Given the description of an element on the screen output the (x, y) to click on. 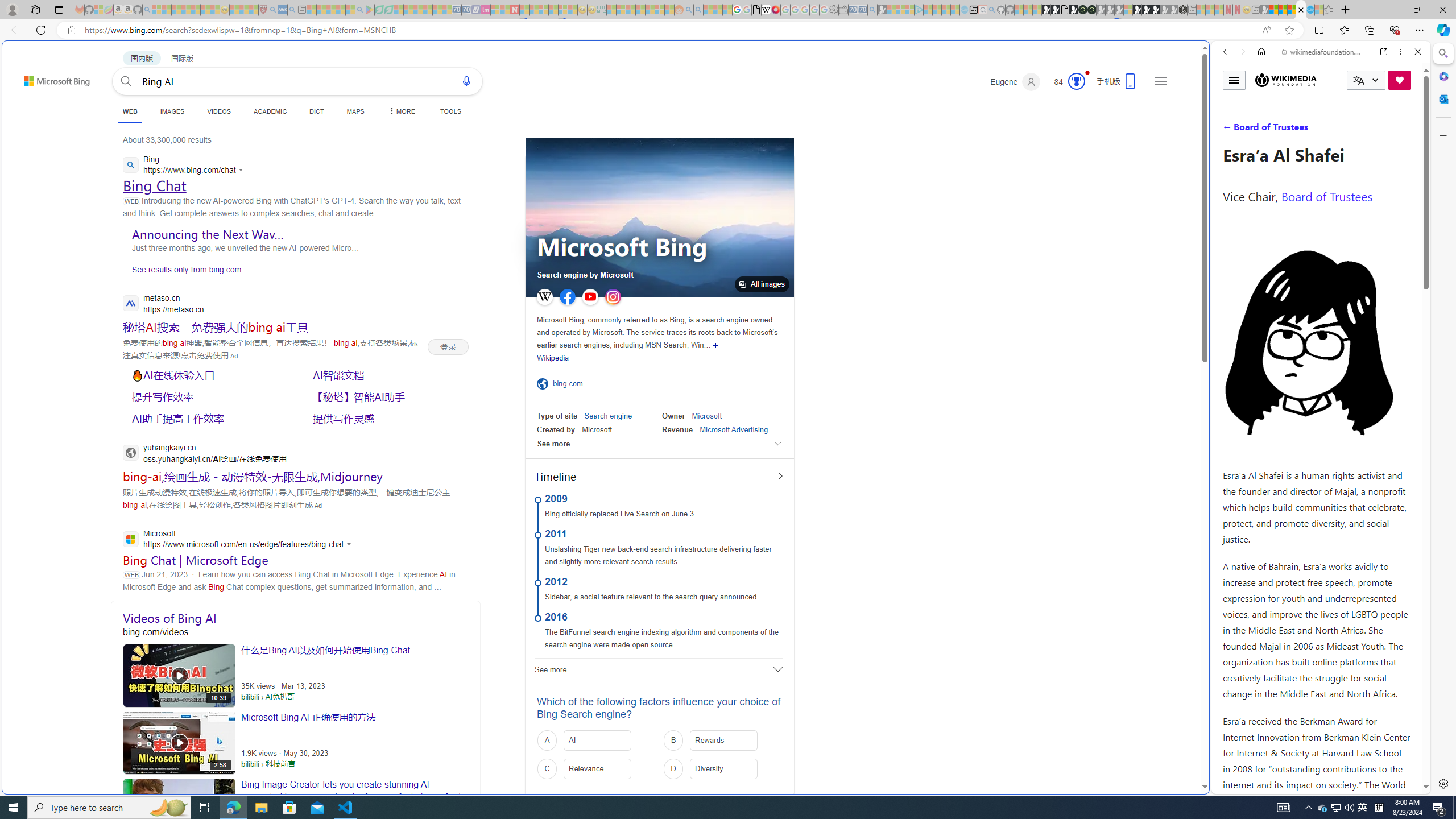
Revenue (677, 429)
Wallet - Sleeping (843, 9)
TOOLS (450, 111)
Frequently visited (965, 151)
SERP,5512 (215, 326)
bing.com (571, 383)
Microsoft Rewards 84 (1065, 81)
